Given the description of an element on the screen output the (x, y) to click on. 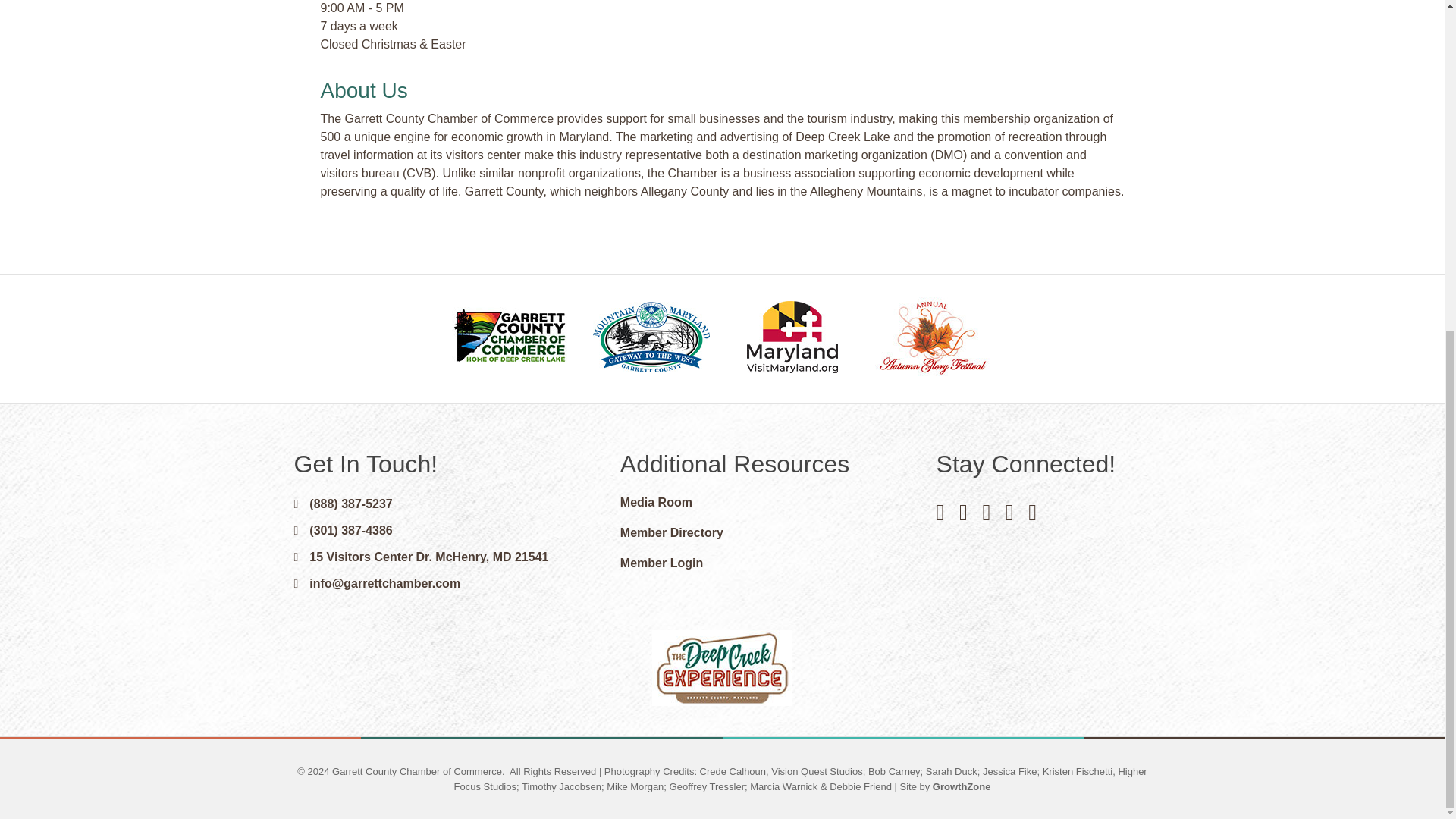
248 (722, 667)
